Given the description of an element on the screen output the (x, y) to click on. 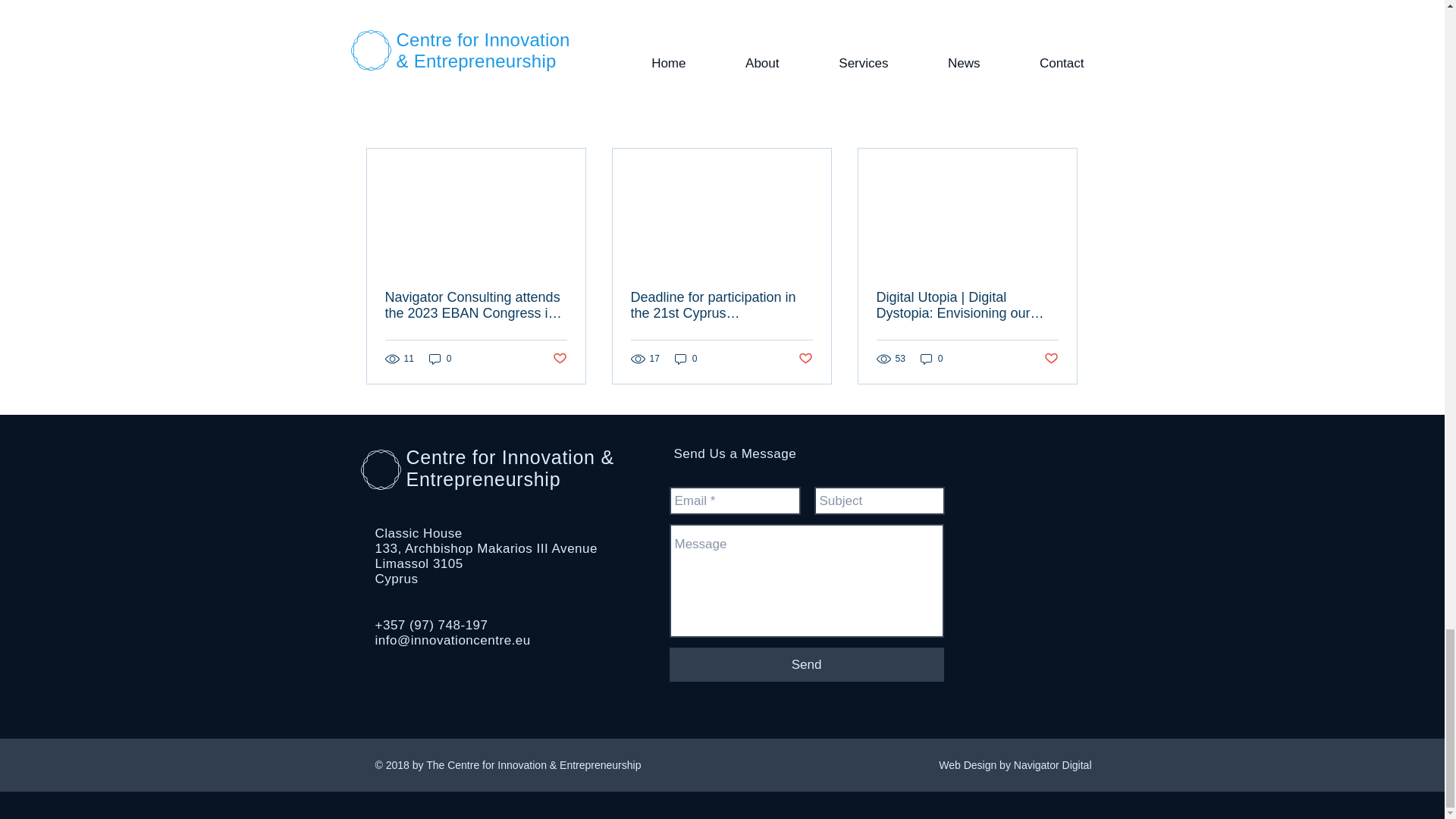
Post not marked as liked (995, 38)
Post not marked as liked (558, 358)
0 (440, 359)
See All (1061, 121)
Post not marked as liked (804, 358)
0 (685, 359)
